Given the description of an element on the screen output the (x, y) to click on. 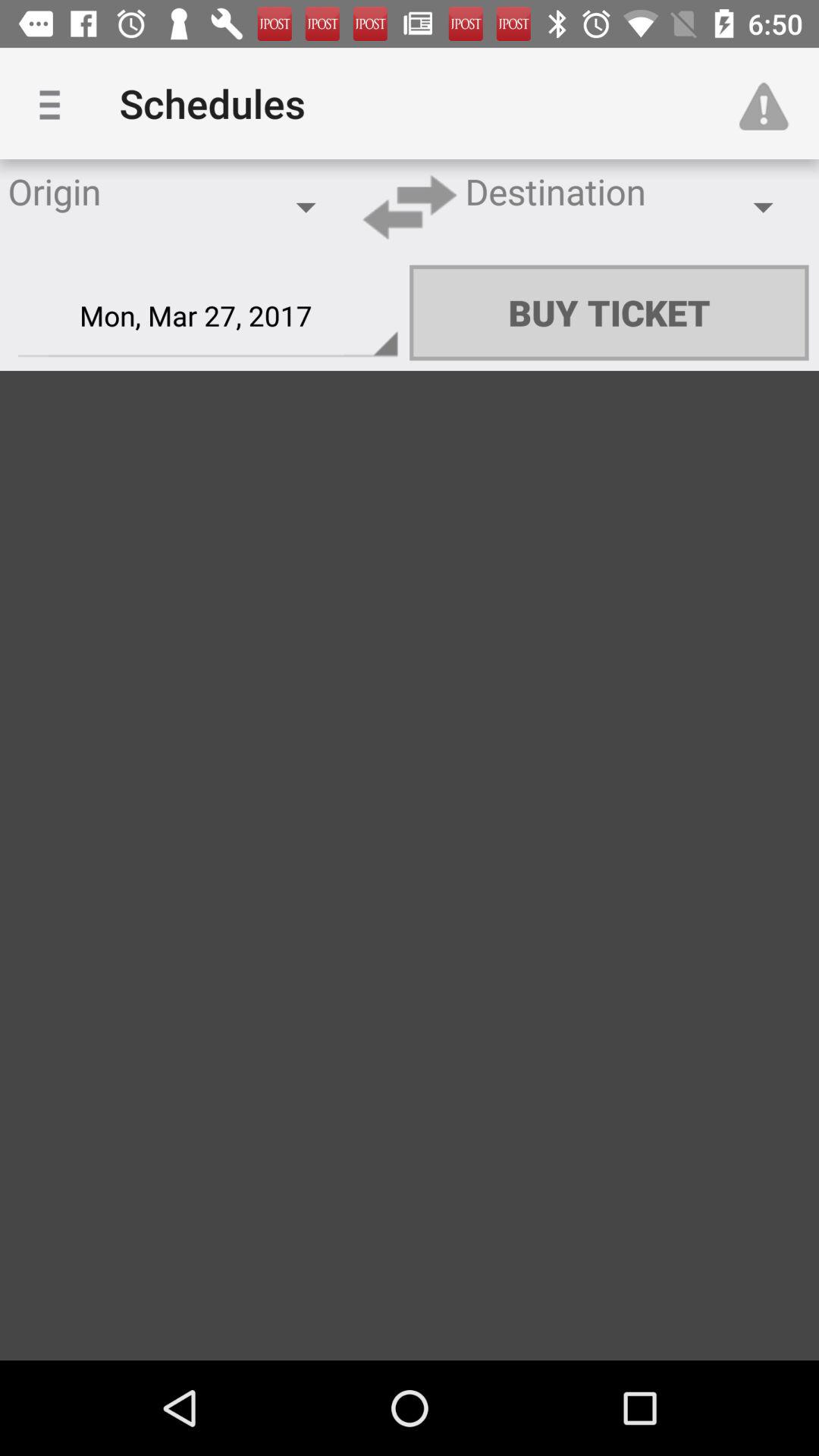
open icon to the left of the destination item (409, 206)
